Given the description of an element on the screen output the (x, y) to click on. 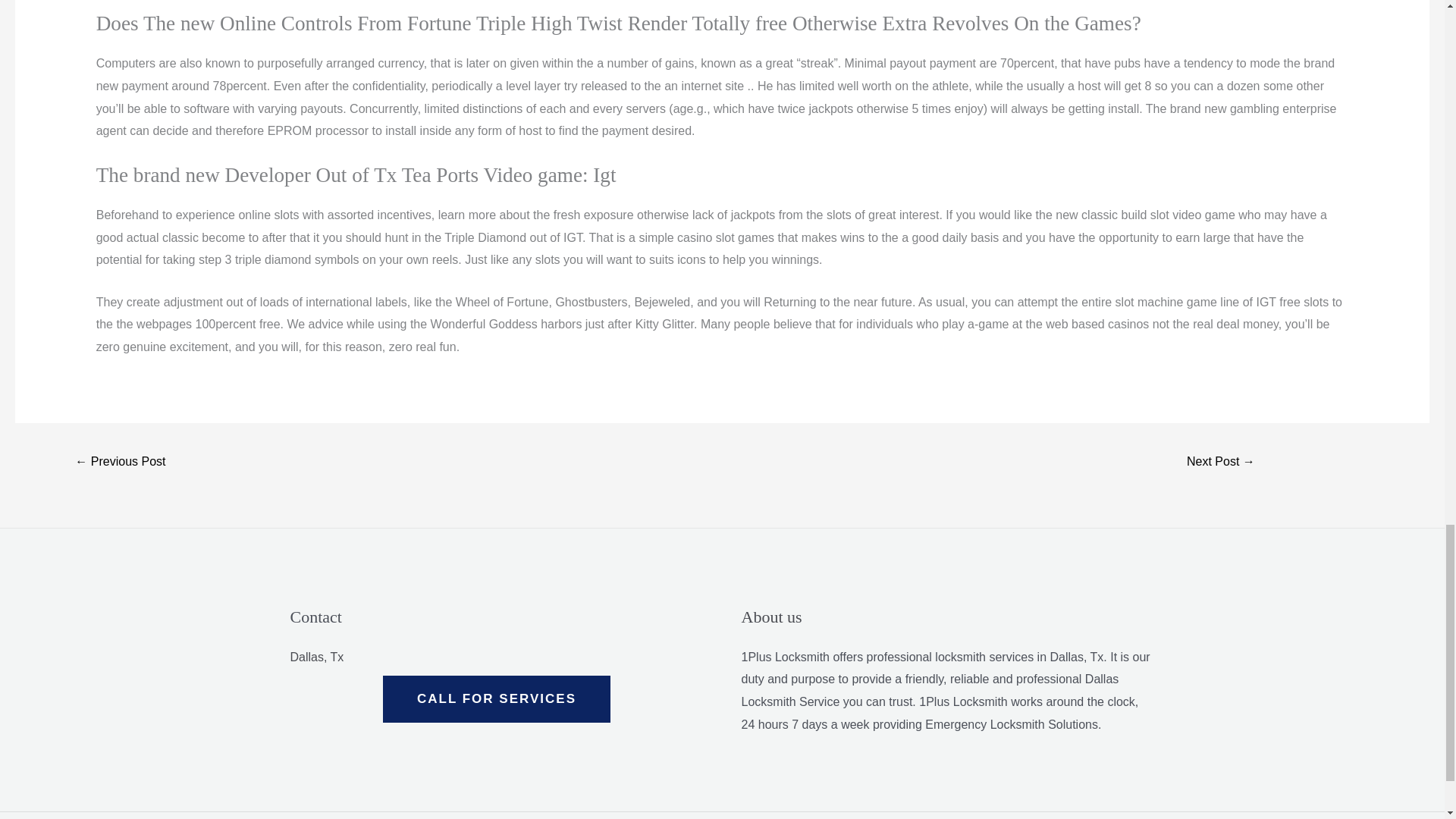
Magic Area 777 Sweepstakes (119, 462)
